Given the description of an element on the screen output the (x, y) to click on. 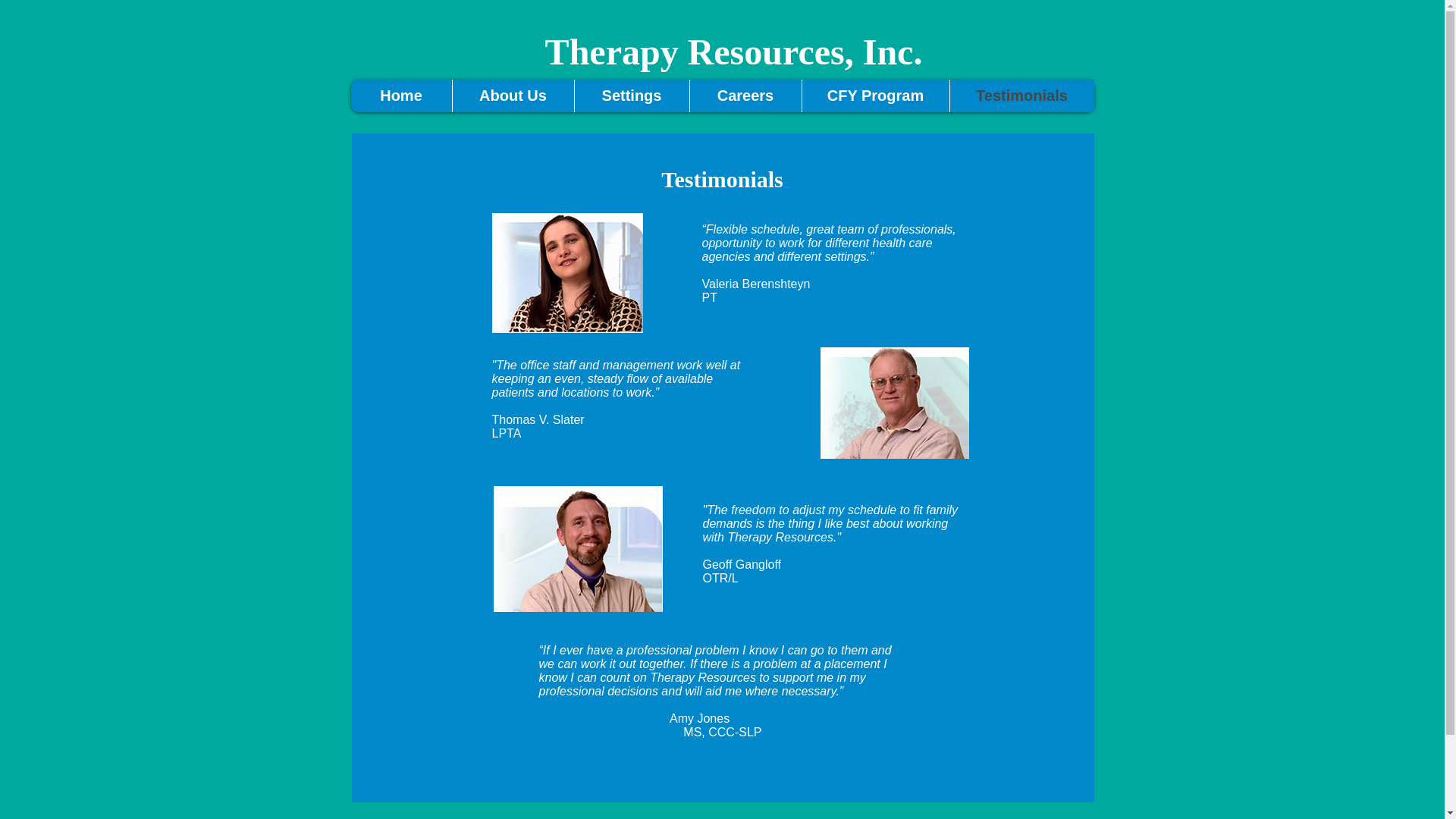
Settings (630, 95)
CFY Program (874, 95)
About Us (512, 95)
Home (400, 95)
Testimonials (1021, 95)
Careers (744, 95)
